Given the description of an element on the screen output the (x, y) to click on. 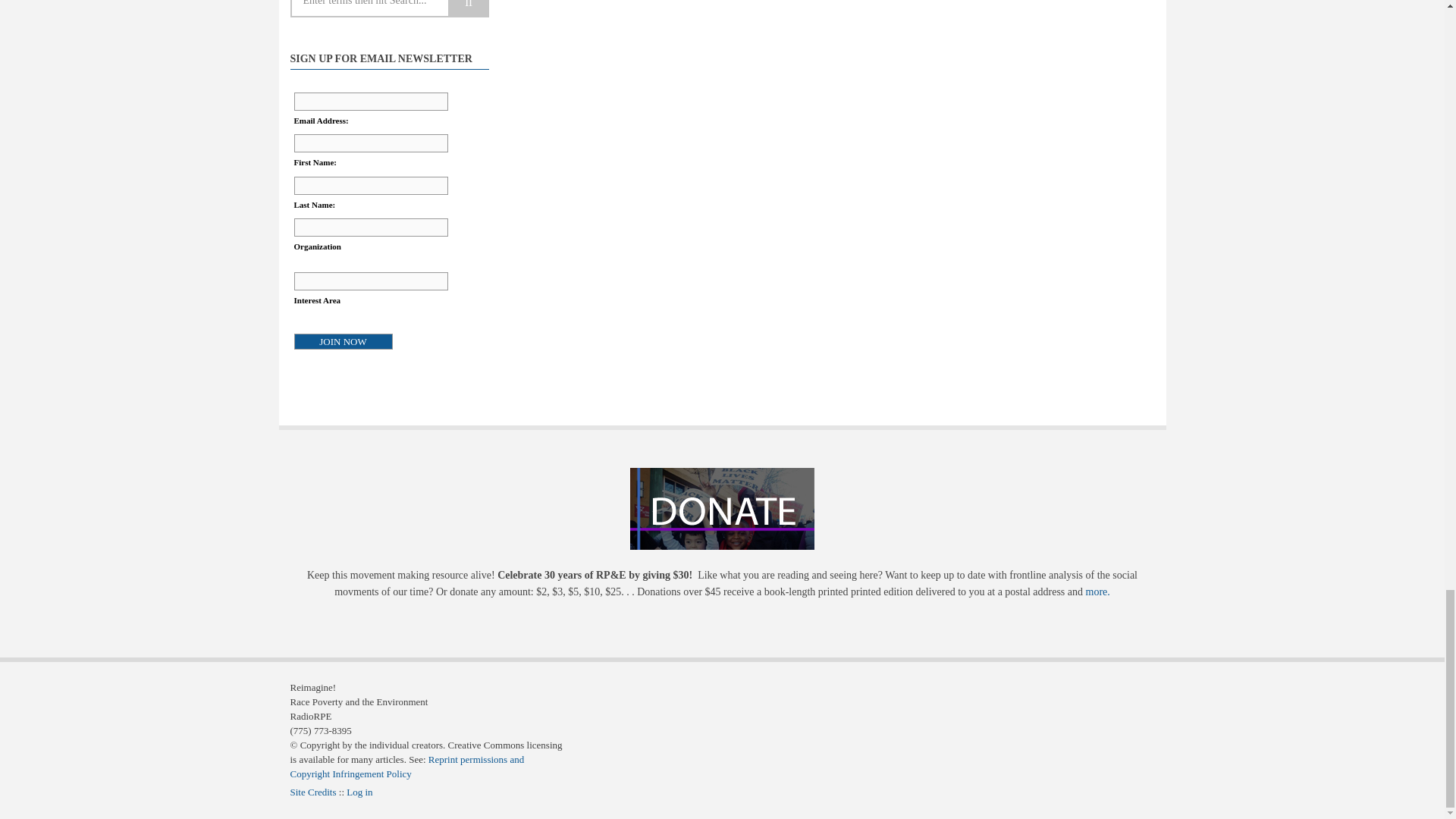
Join Now (343, 341)
Enter terms then hit Search... (389, 8)
